Given the description of an element on the screen output the (x, y) to click on. 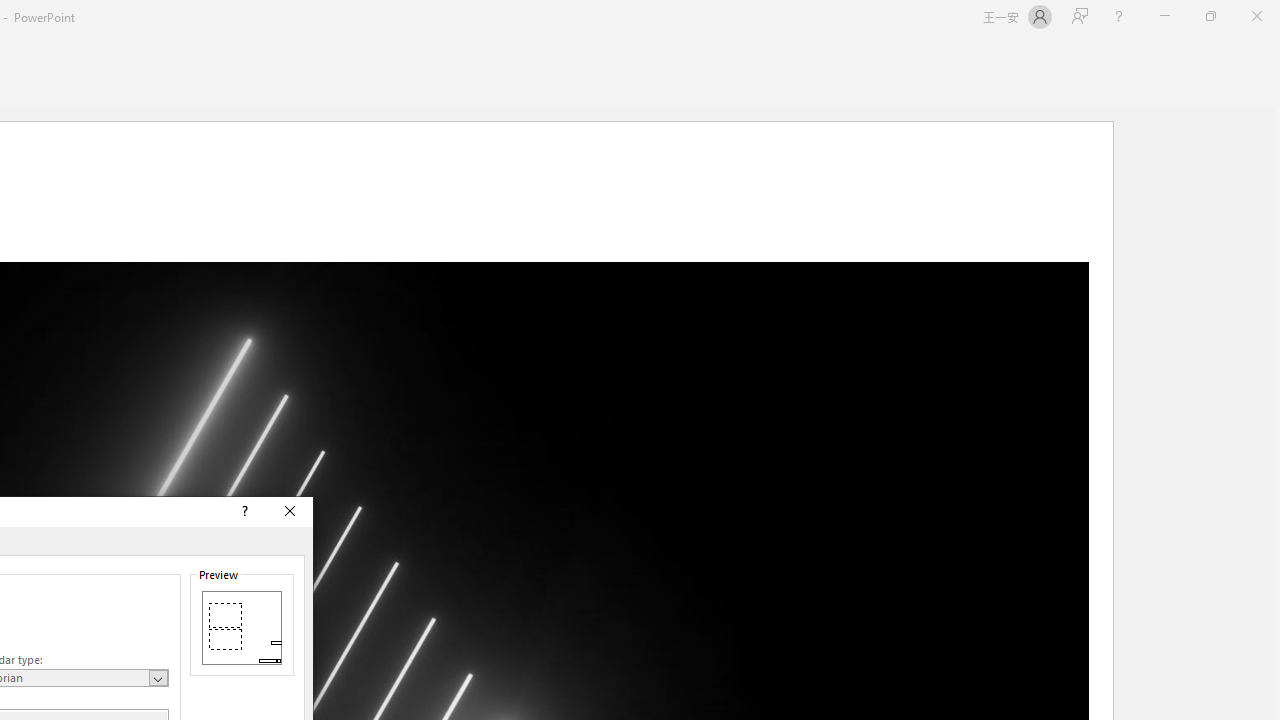
Context help (243, 511)
